Given the description of an element on the screen output the (x, y) to click on. 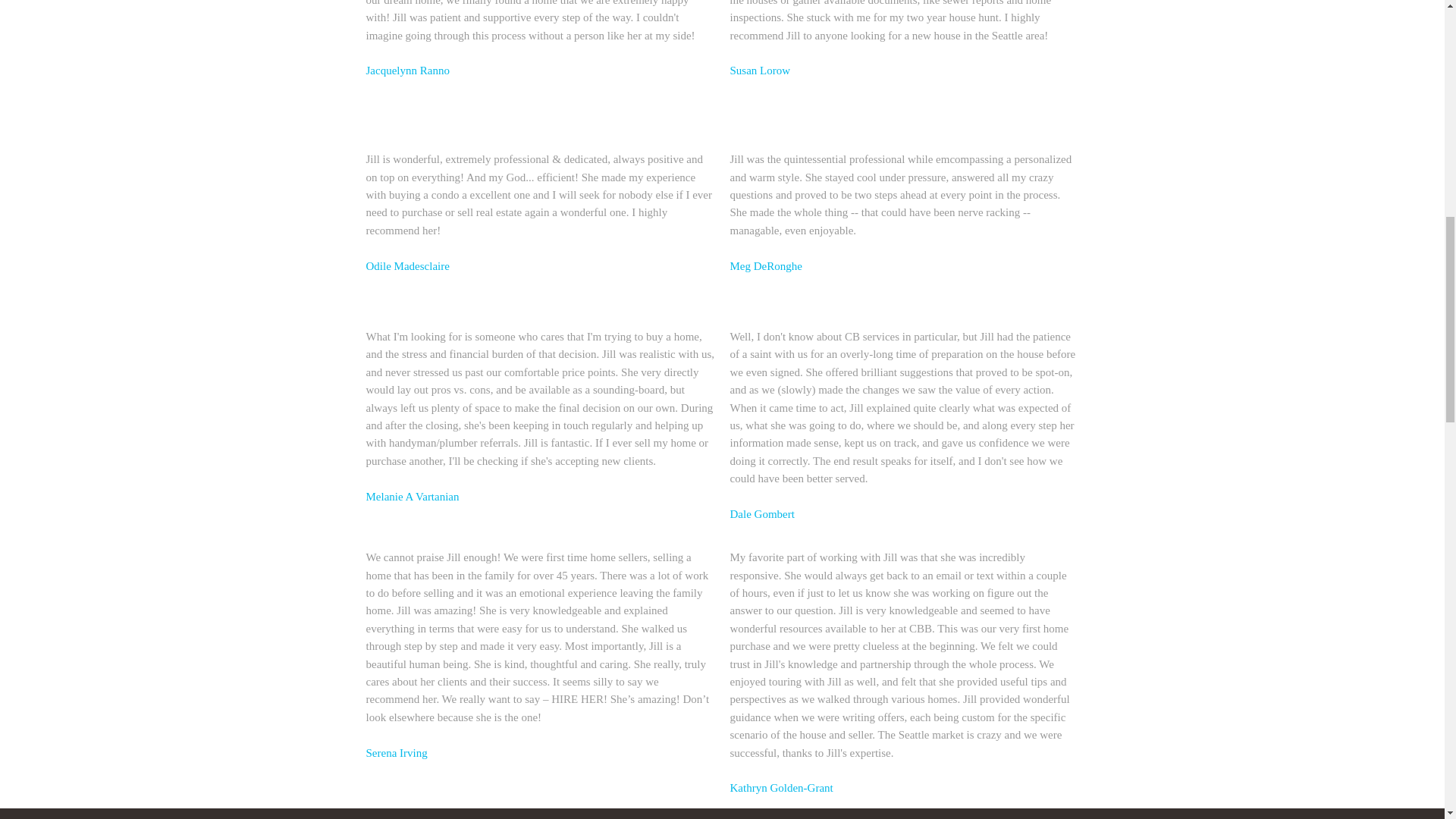
Meg DeRonghe (765, 265)
Jacquelynn Ranno (406, 70)
Kathryn Golden-Grant (780, 787)
Odile Madesclaire (406, 265)
Dale Gombert (761, 513)
Melanie A Vartanian (411, 496)
Susan Lorow (759, 70)
Serena Irving (395, 752)
